Given the description of an element on the screen output the (x, y) to click on. 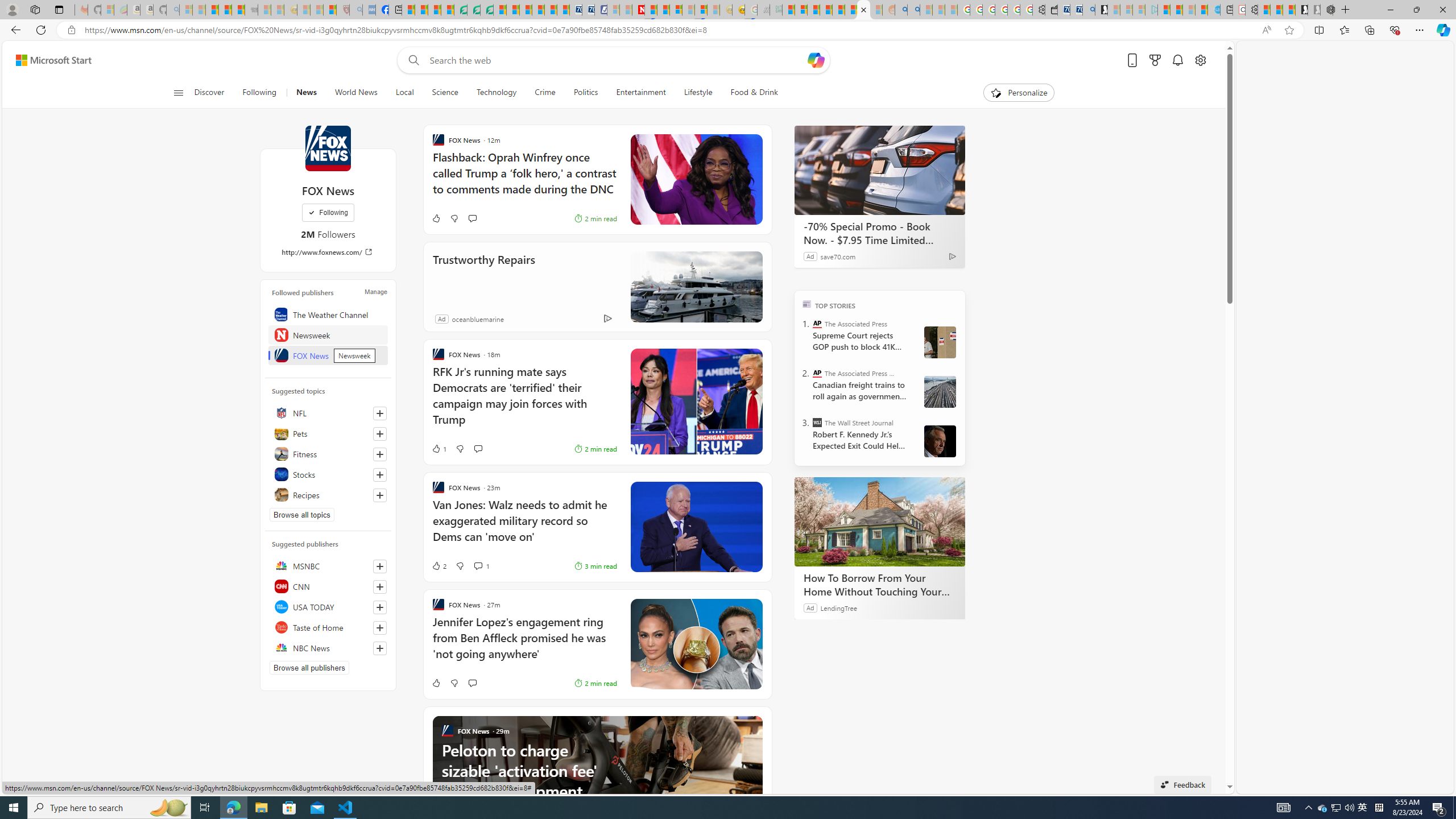
Follow this source (379, 648)
Trustworthy Repairs (696, 286)
The Wall Street Journal (816, 422)
FOX News - MSN (864, 9)
2 Like (438, 565)
